Given the description of an element on the screen output the (x, y) to click on. 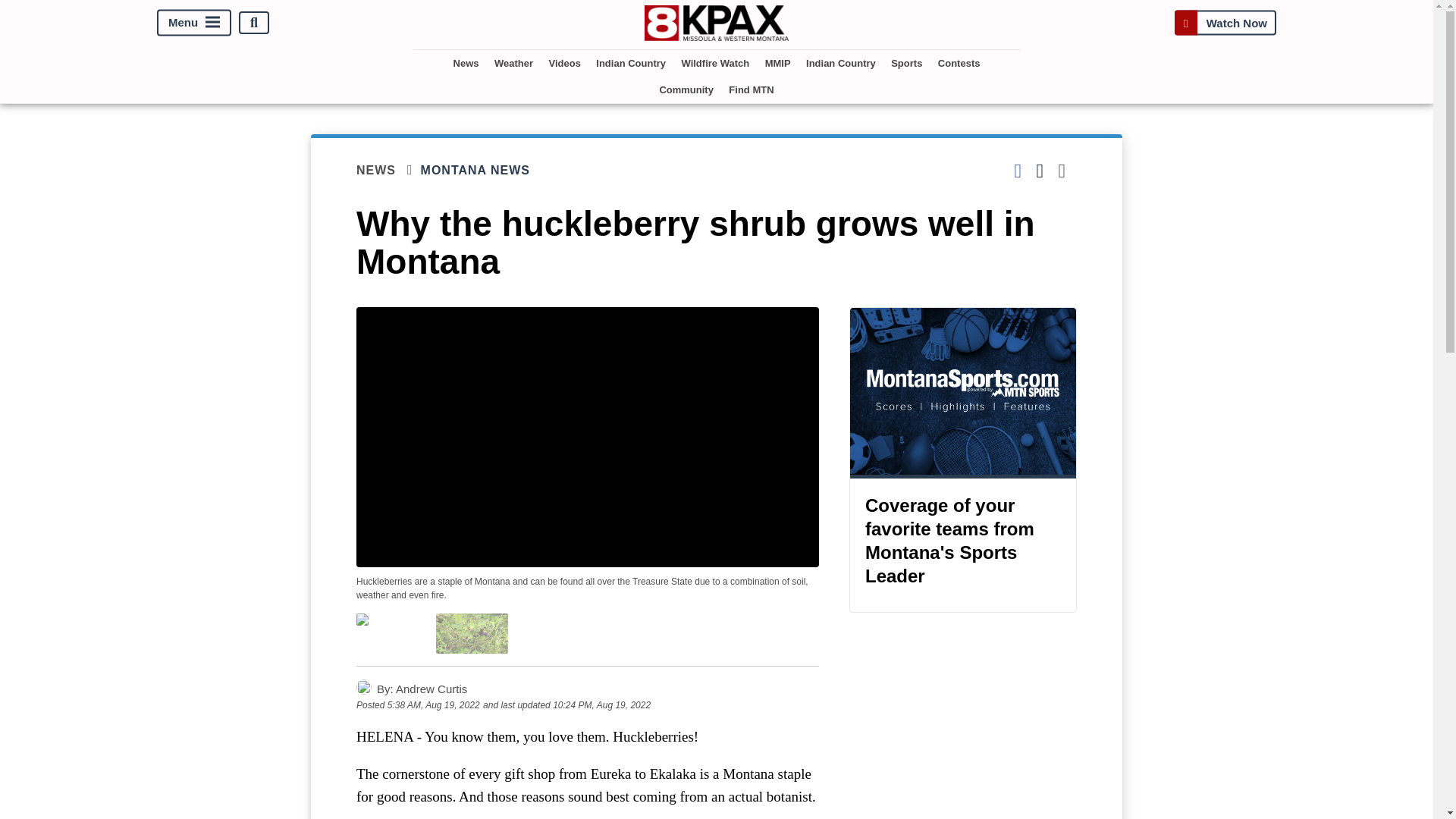
Watch Now (1224, 22)
Menu (194, 22)
